Given the description of an element on the screen output the (x, y) to click on. 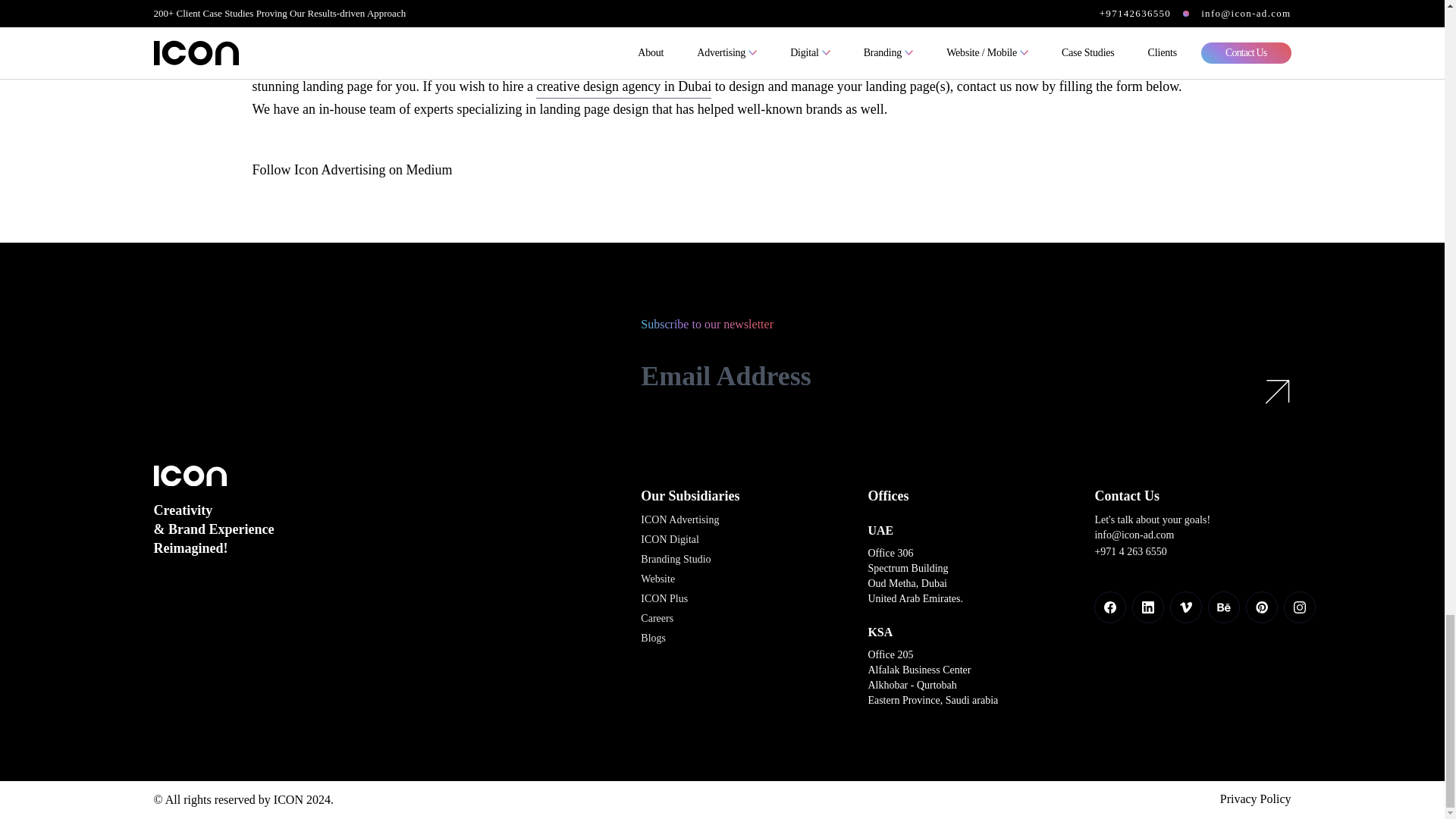
creative design agency in Dubai (623, 87)
Careers (656, 619)
Branding Studio (675, 560)
Website (657, 579)
ICON Digital (669, 540)
Blogs (652, 638)
Follow Icon Advertising on Medium (351, 169)
ICON Plus (663, 599)
ICON Advertising (679, 520)
